Given the description of an element on the screen output the (x, y) to click on. 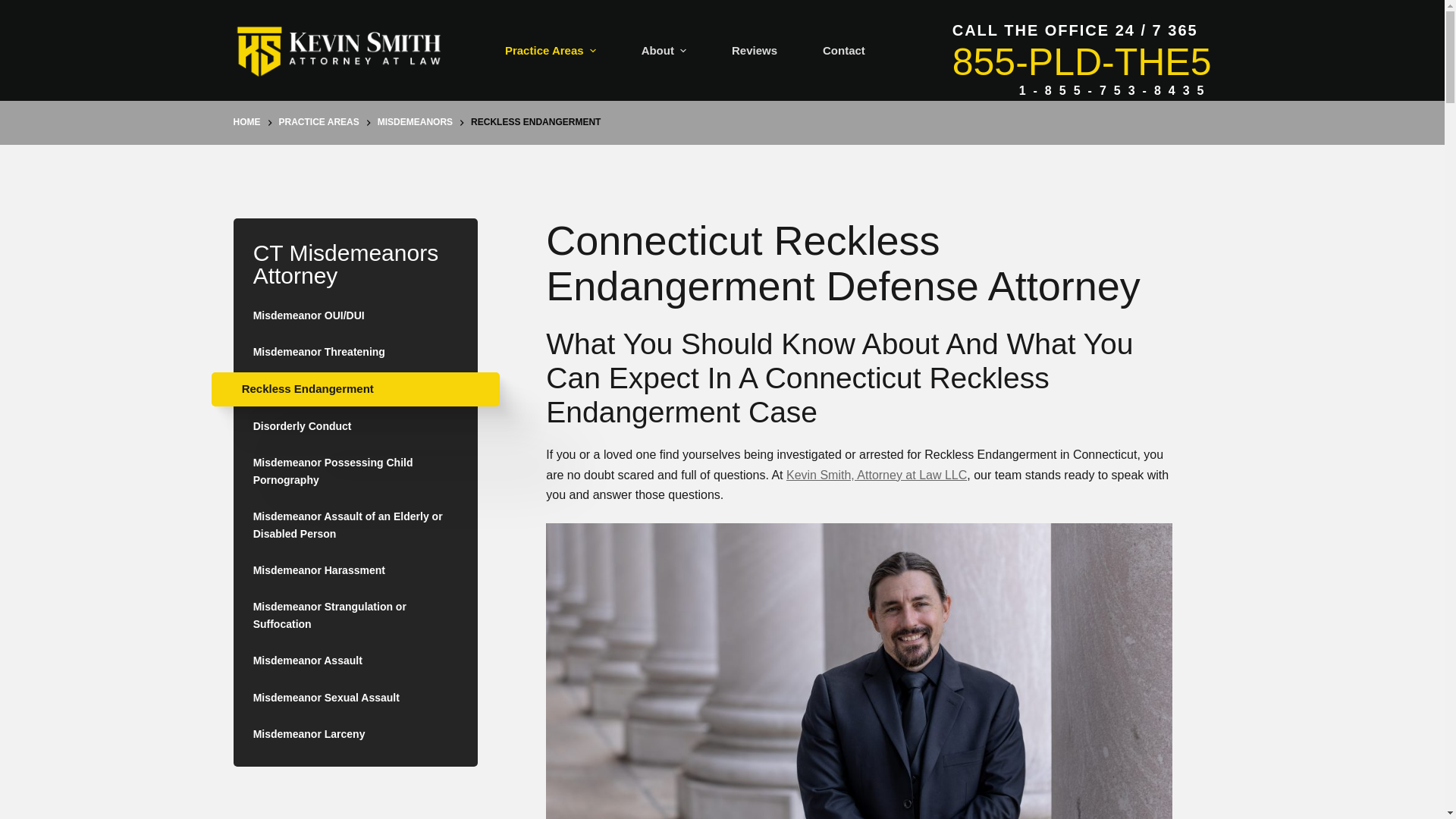
Call Now (1081, 62)
Skip to content (15, 7)
